Given the description of an element on the screen output the (x, y) to click on. 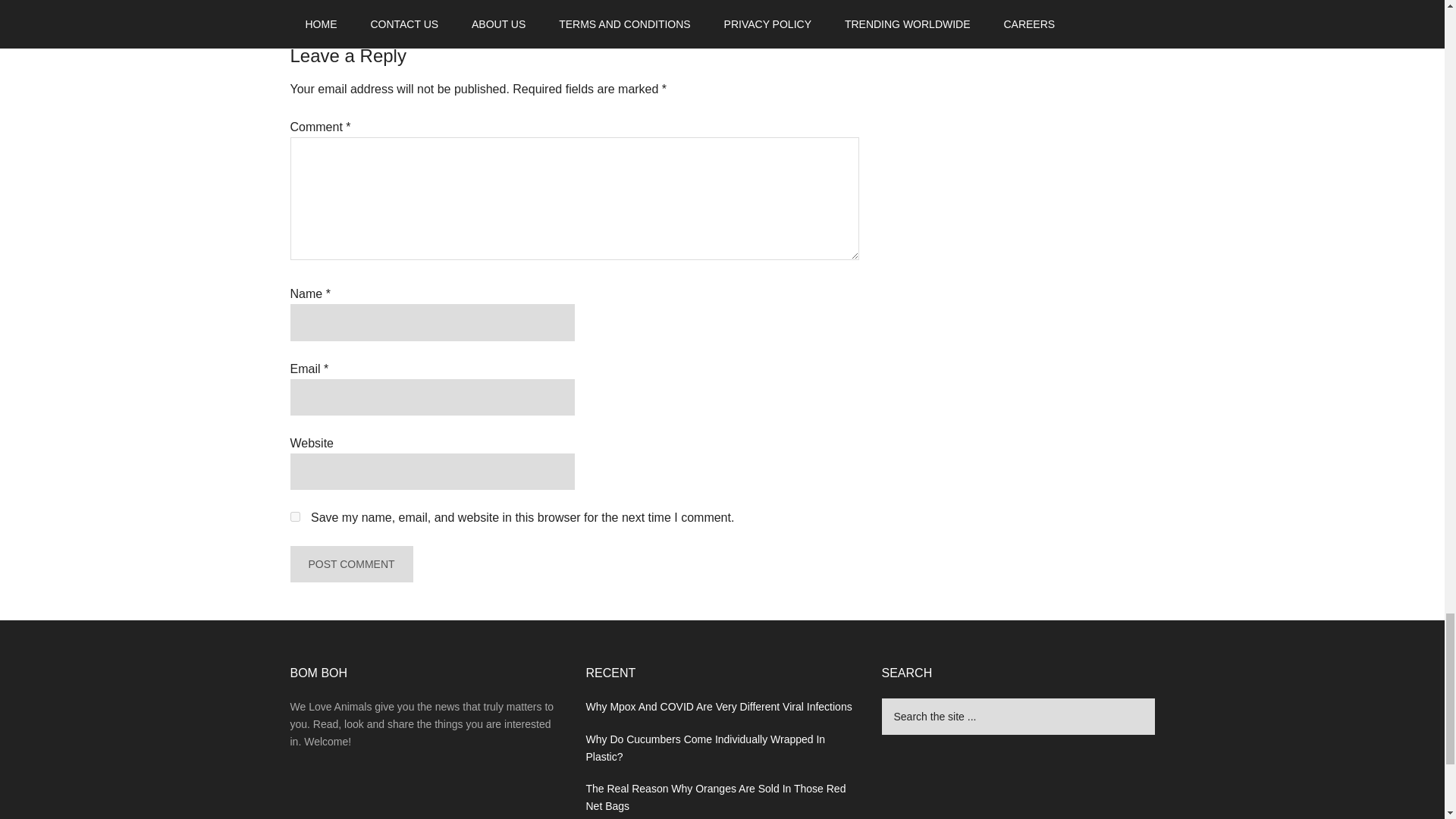
Post Comment (350, 564)
yes (294, 516)
Post Comment (350, 564)
